Given the description of an element on the screen output the (x, y) to click on. 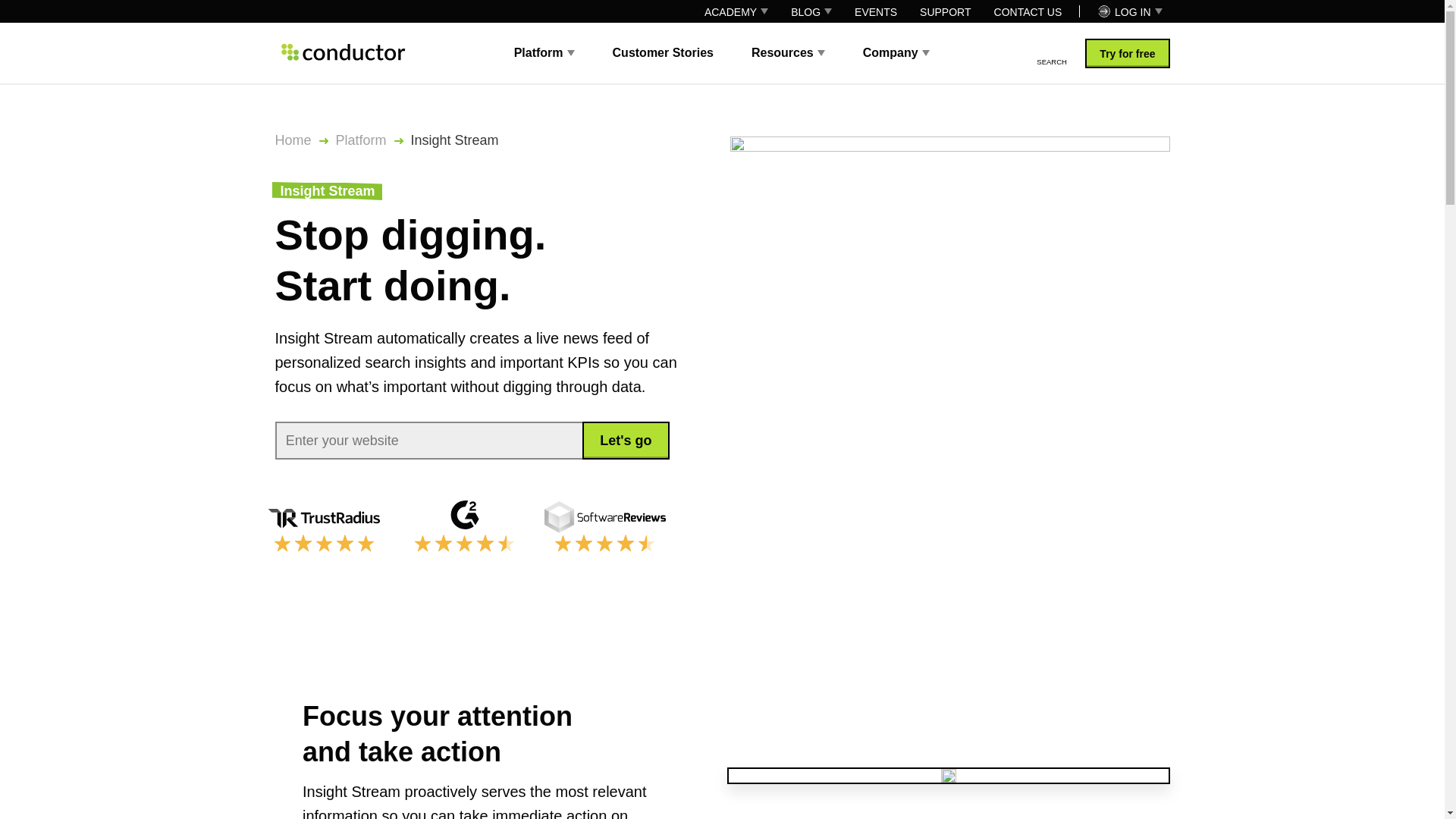
Platform (544, 52)
Resources (788, 52)
Company (895, 52)
Customer Stories (662, 52)
ACADEMY (736, 11)
